Given the description of an element on the screen output the (x, y) to click on. 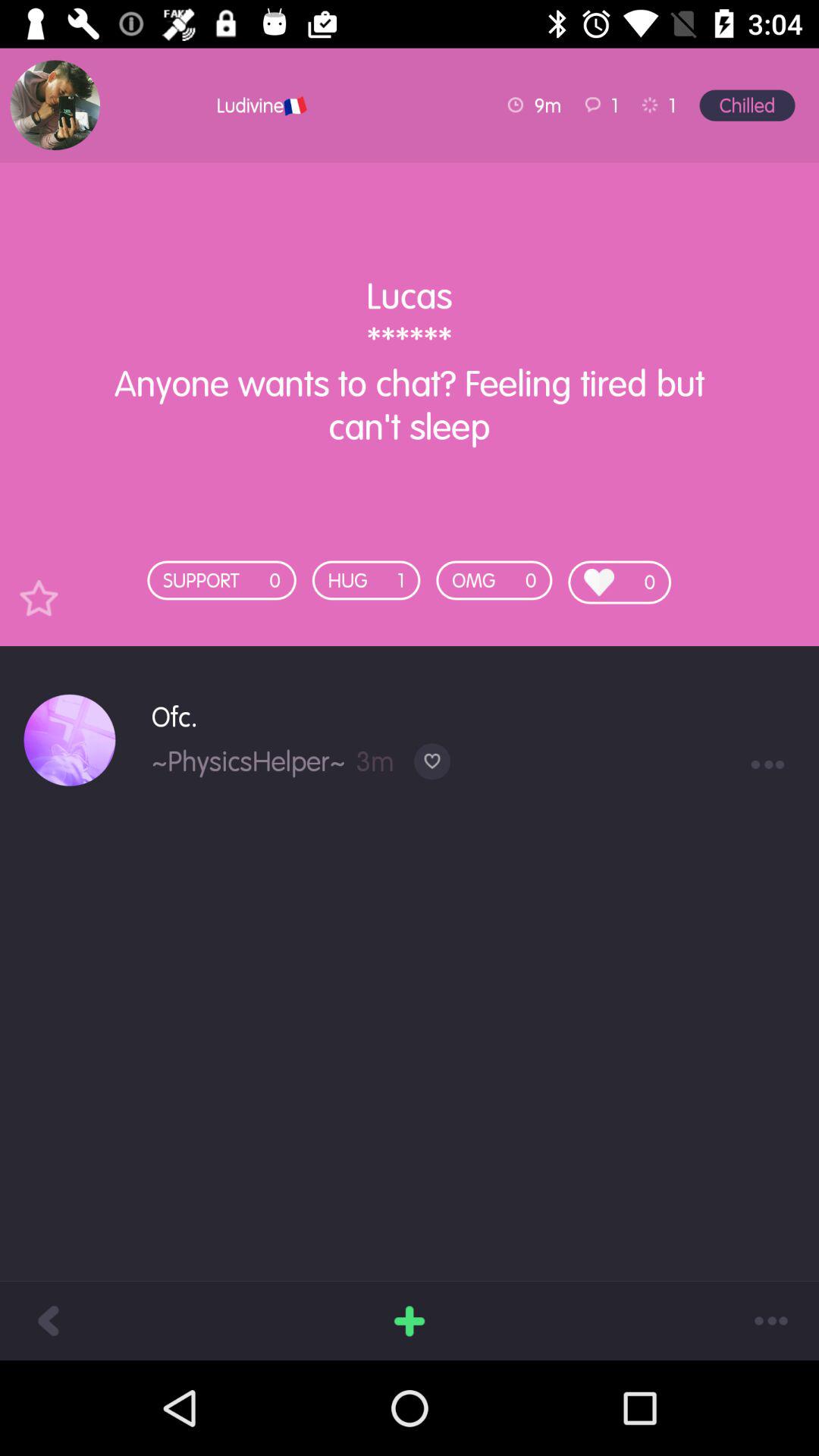
tap the ofc. icon (473, 716)
